Given the description of an element on the screen output the (x, y) to click on. 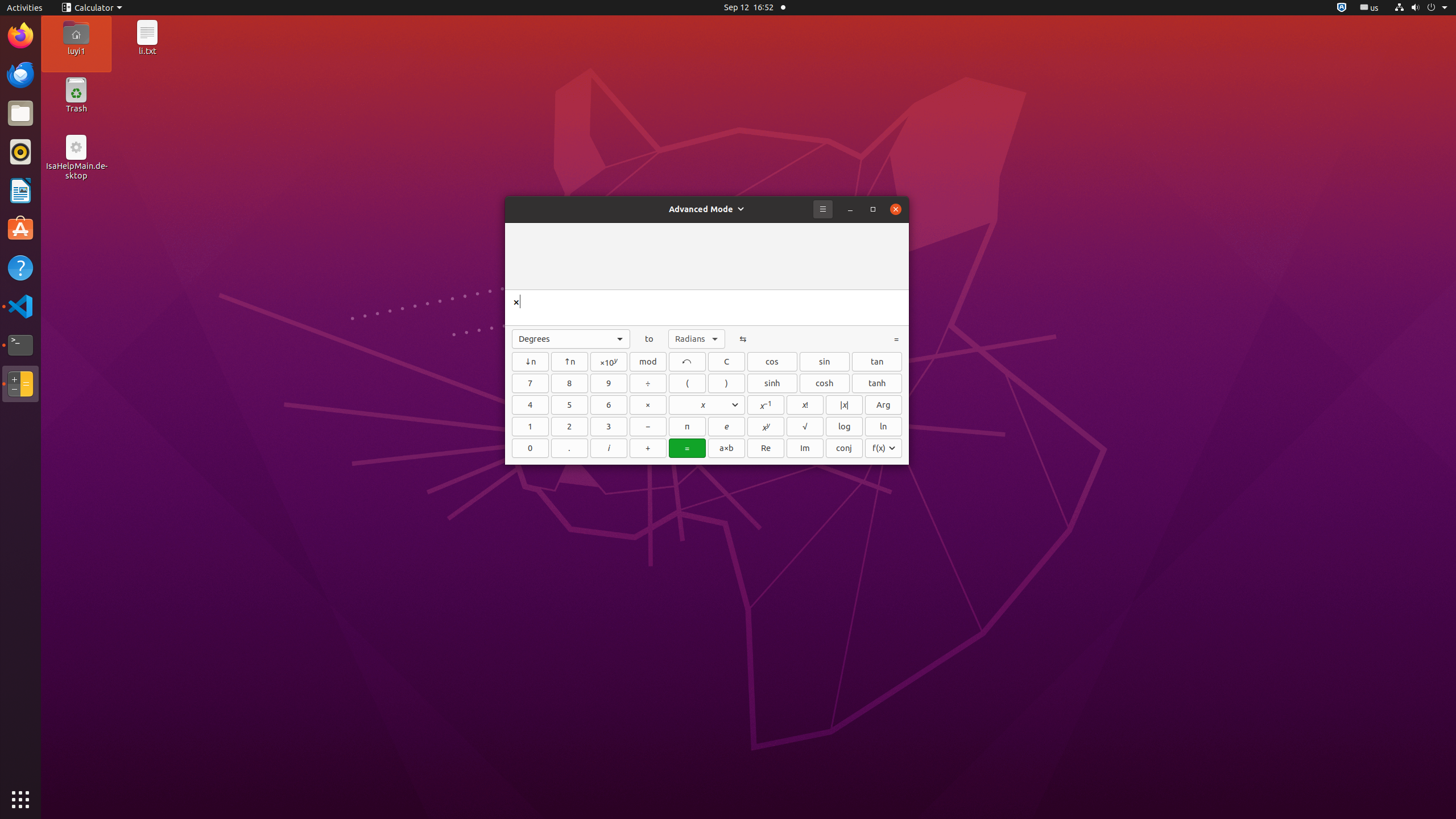
tanh Element type: push-button (876, 383)
Arg Element type: push-button (883, 404)
